Given the description of an element on the screen output the (x, y) to click on. 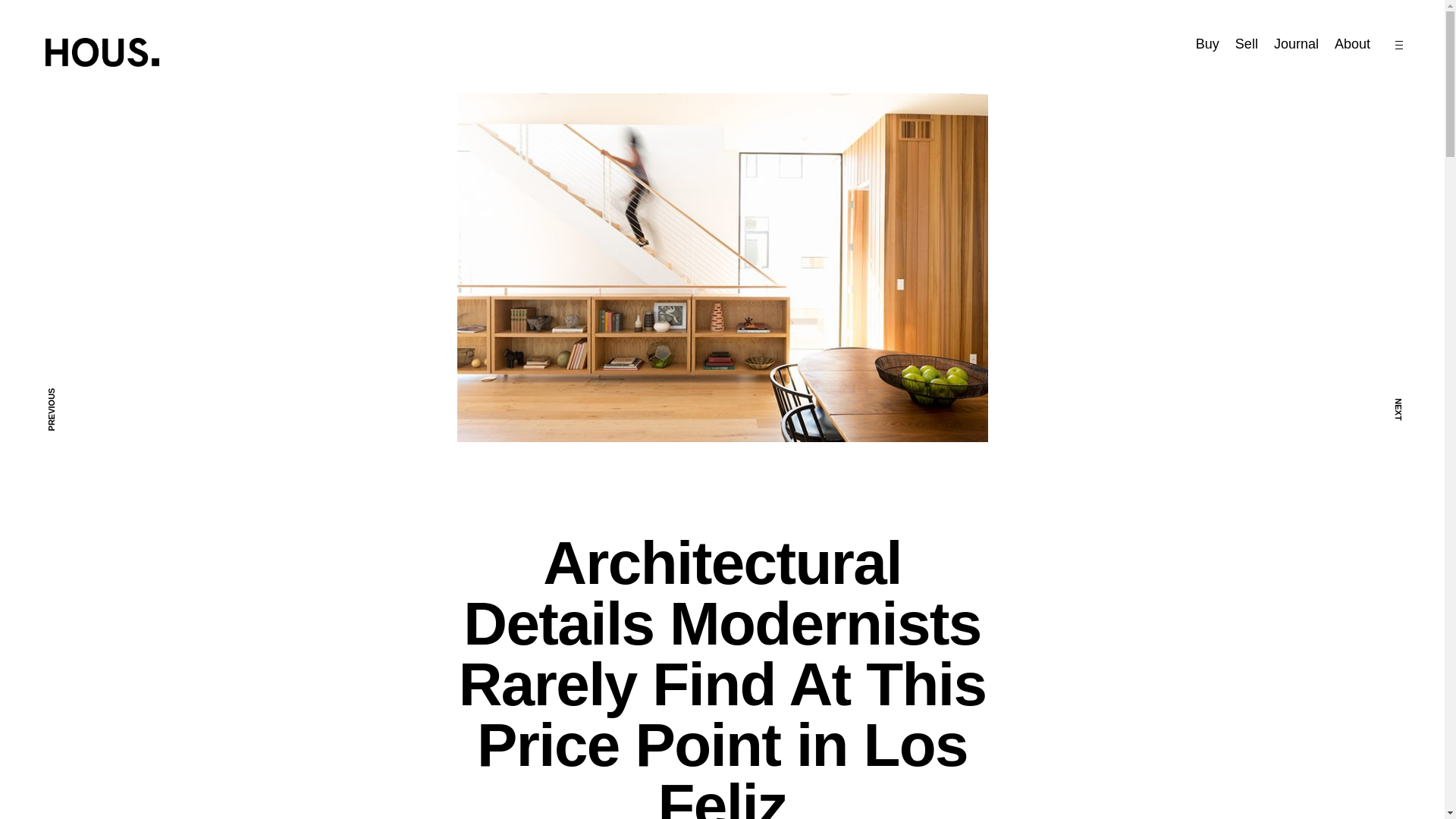
HOUS (203, 46)
Journal (1296, 44)
About (1352, 44)
Sell (1245, 44)
open sidebar (1399, 44)
PREVIOUS (30, 409)
Buy (1207, 44)
